Given the description of an element on the screen output the (x, y) to click on. 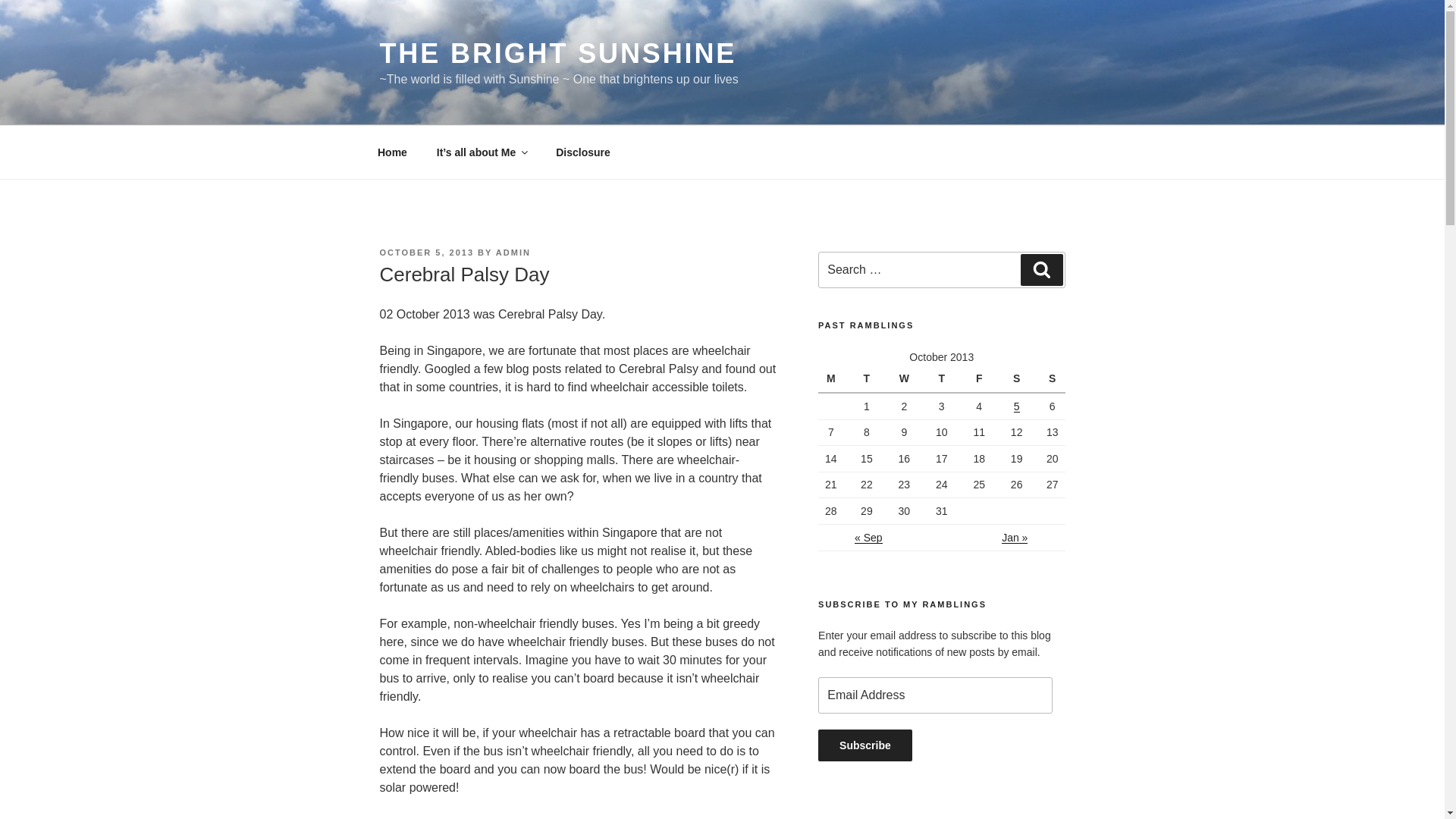
Home (392, 151)
Monday (832, 379)
Subscribe (865, 745)
THE BRIGHT SUNSHINE (557, 52)
Wednesday (904, 379)
Disclosure (583, 151)
Thursday (941, 379)
Sunday (1049, 379)
ADMIN (513, 252)
OCTOBER 5, 2013 (426, 252)
Subscribe (865, 745)
Search (1041, 269)
Tuesday (866, 379)
Saturday (1016, 379)
